Given the description of an element on the screen output the (x, y) to click on. 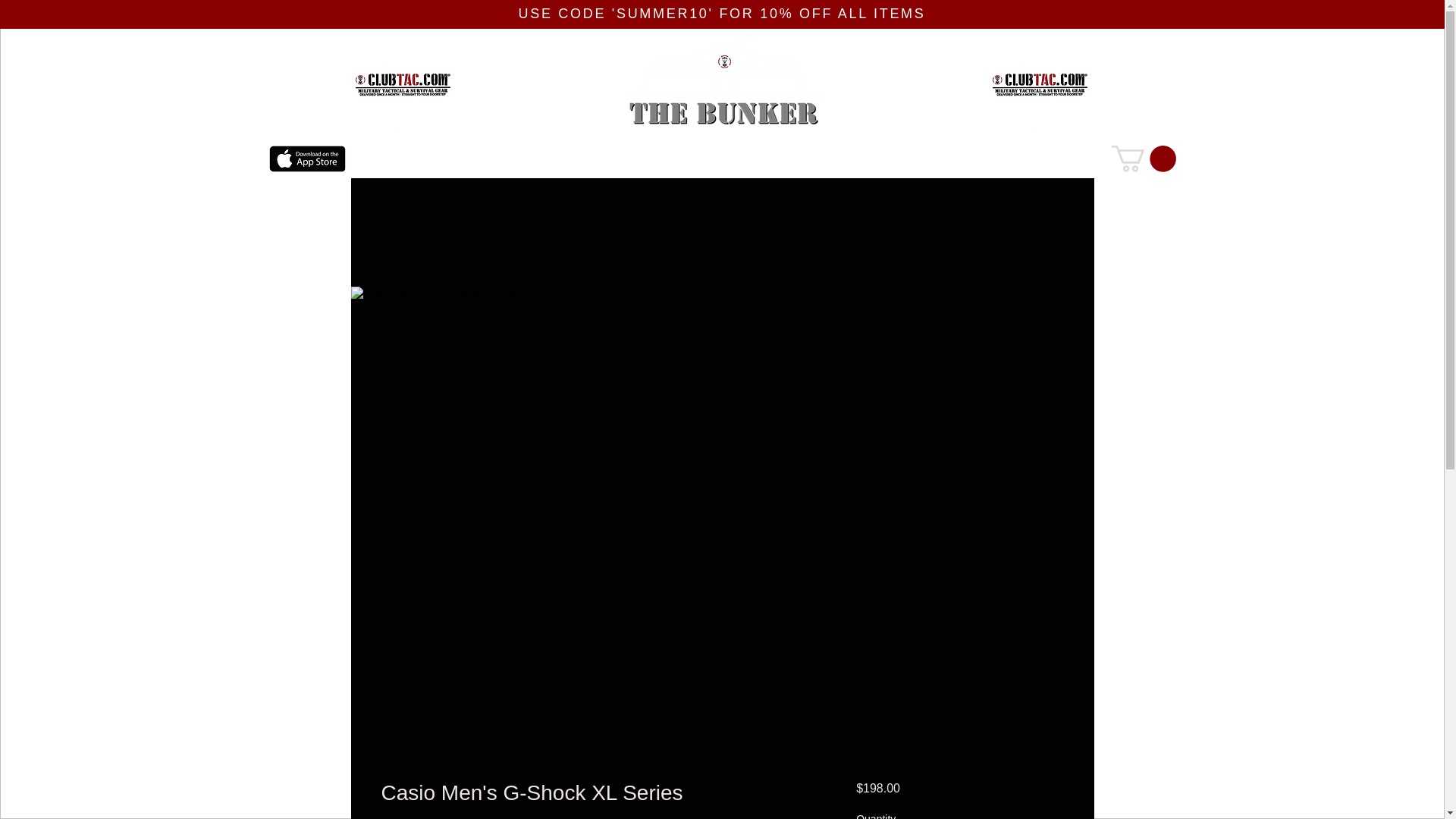
HOME (397, 159)
SHOP BY CATEGORY (635, 159)
CONTACT (868, 159)
ABOUT (764, 159)
BRAND AMBASSADOR (1007, 159)
SHOP ALL (500, 159)
